Given the description of an element on the screen output the (x, y) to click on. 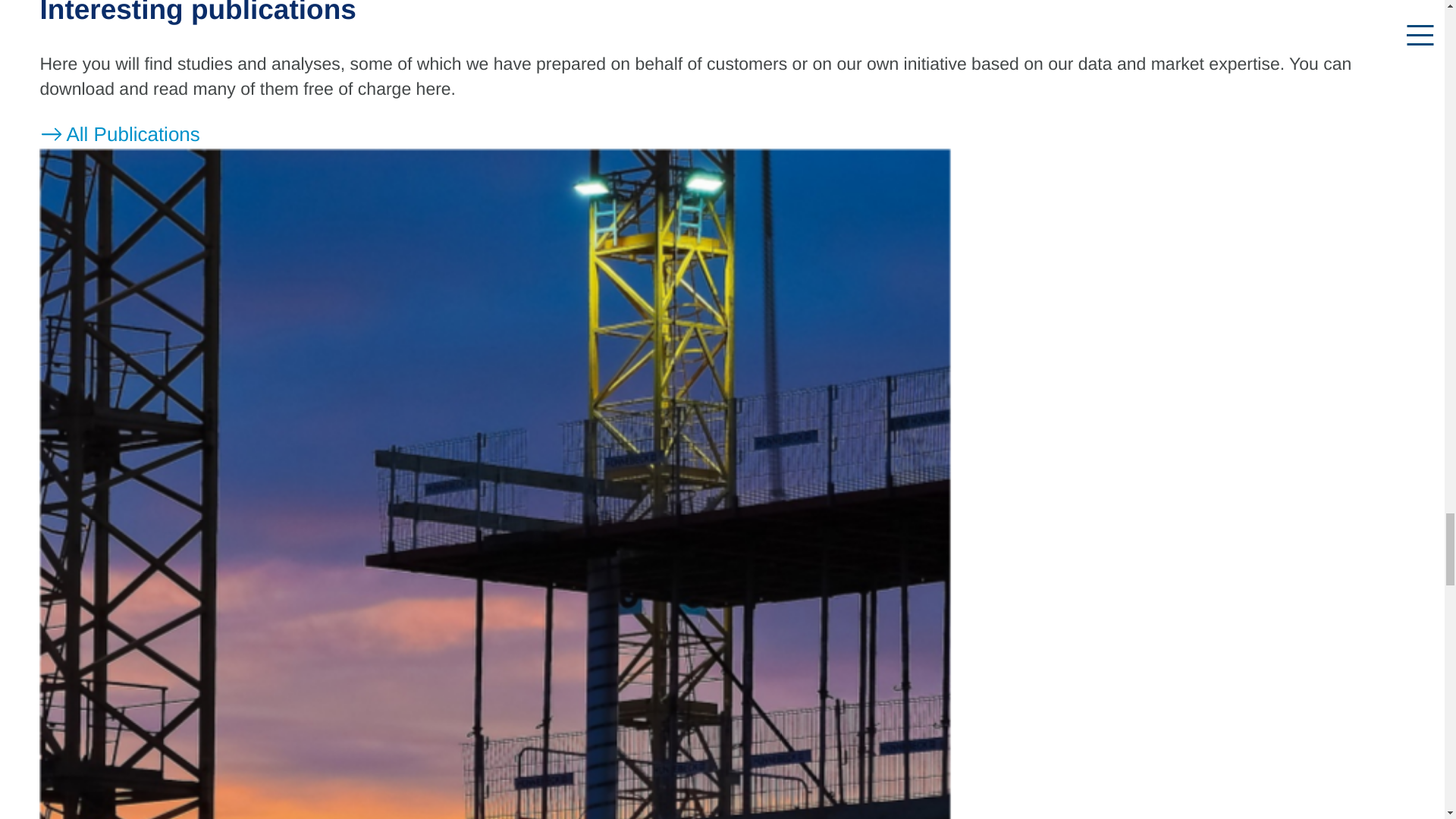
All Publications (119, 133)
